Given the description of an element on the screen output the (x, y) to click on. 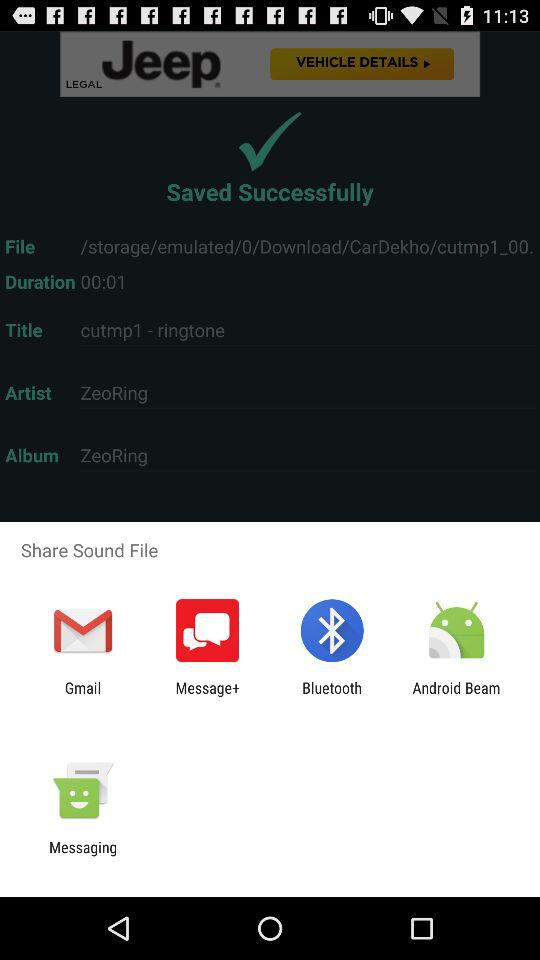
turn off the app to the left of message+ (82, 696)
